Given the description of an element on the screen output the (x, y) to click on. 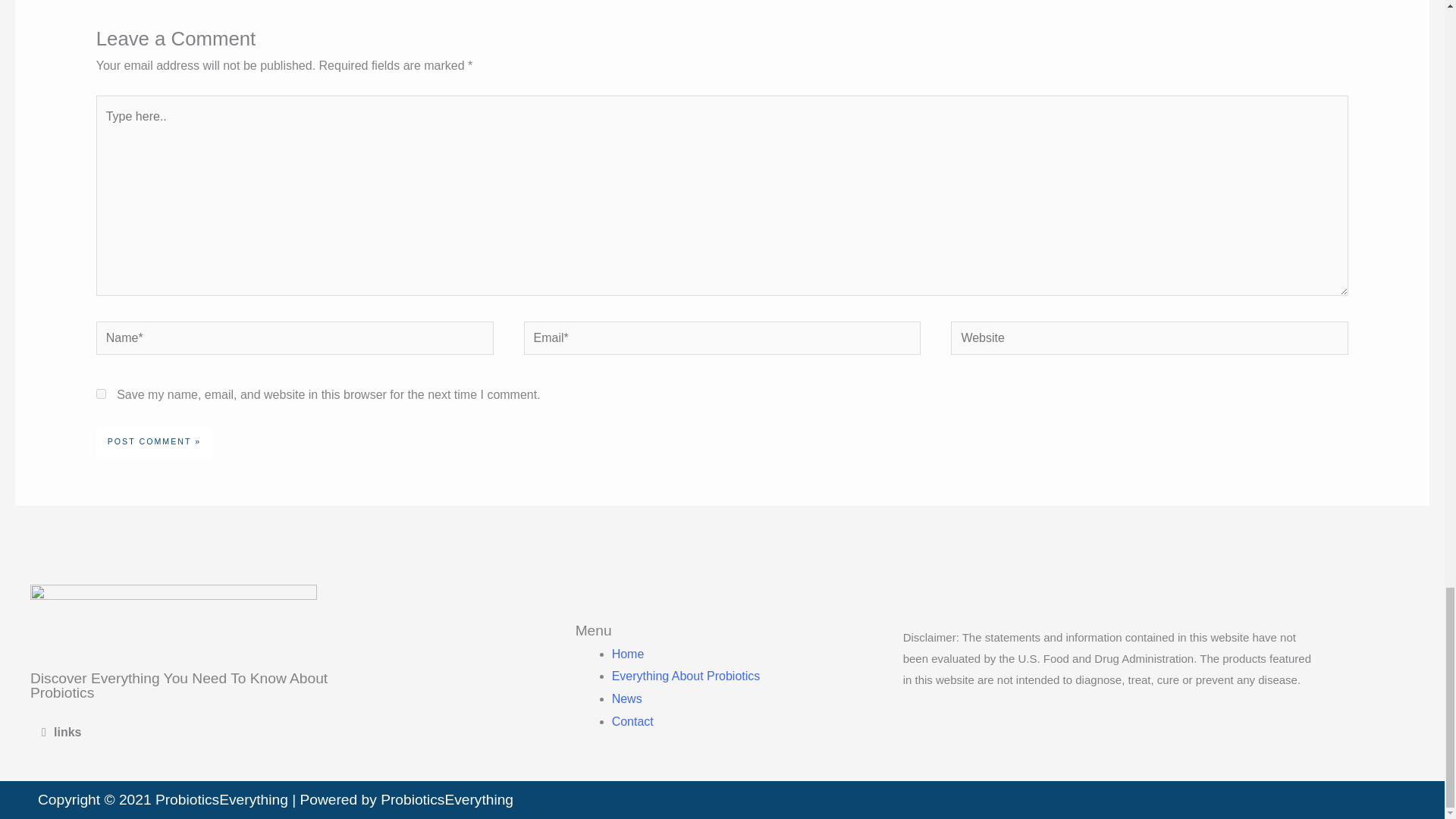
yes (101, 393)
links (67, 731)
